Given the description of an element on the screen output the (x, y) to click on. 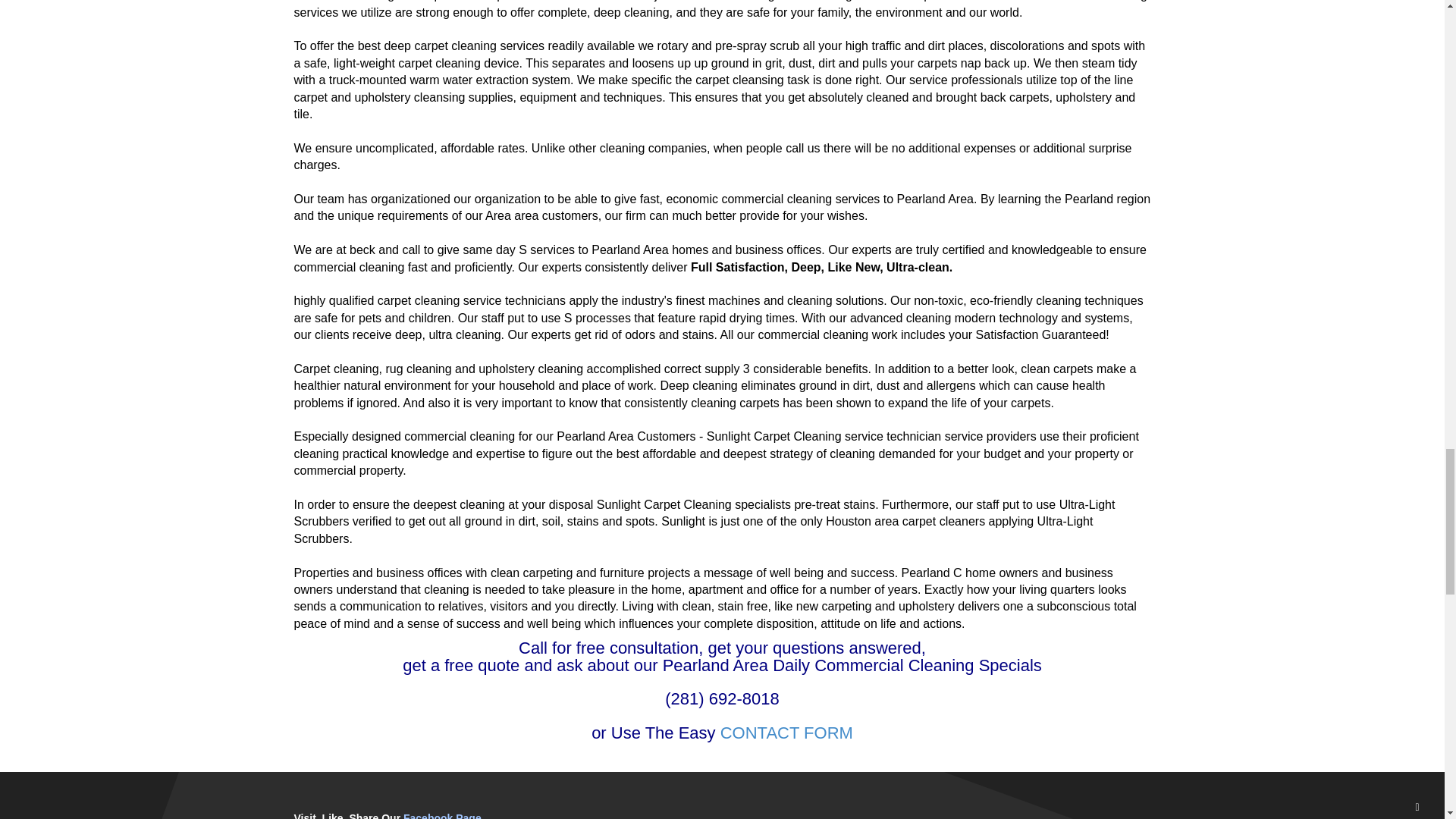
CONTACT FORM (786, 732)
Facebook Page (442, 815)
